Given the description of an element on the screen output the (x, y) to click on. 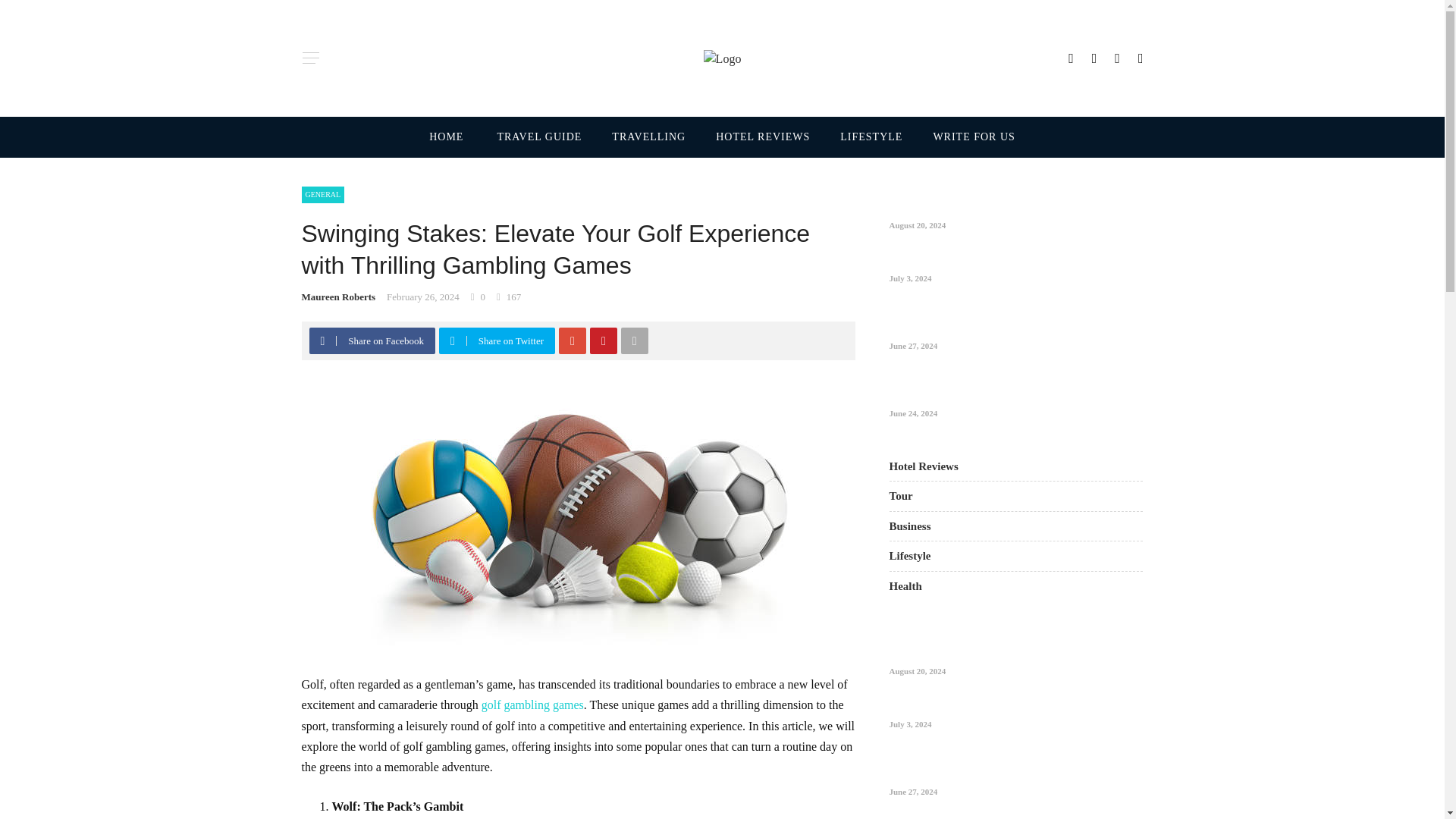
HOTEL REVIEWS (762, 137)
LIFESTYLE (871, 137)
TRAVELLING (648, 137)
HOME (455, 137)
TRAVEL GUIDE (538, 137)
WRITE FOR US (965, 137)
